Given the description of an element on the screen output the (x, y) to click on. 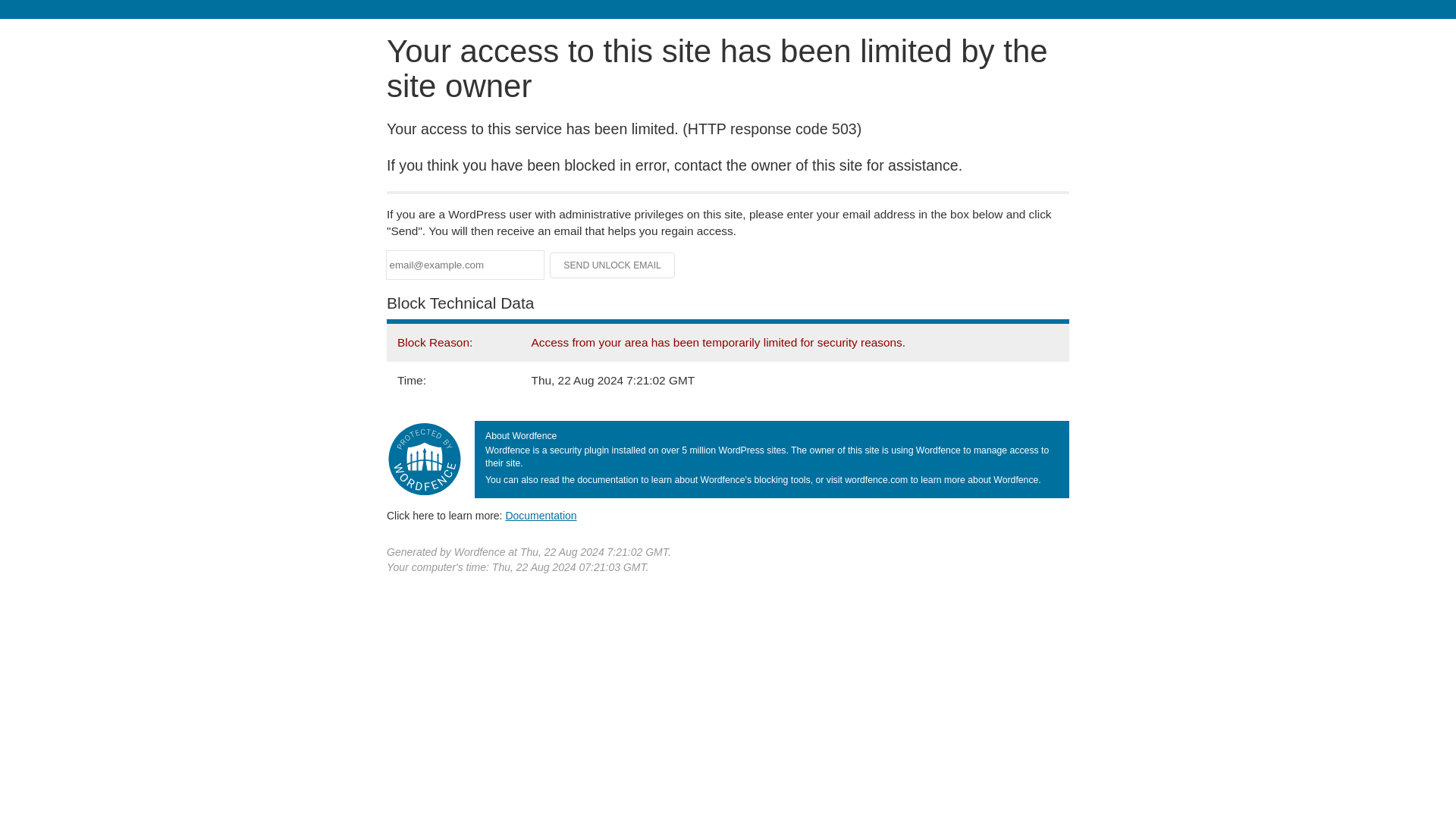
Documentation (540, 515)
Send Unlock Email (612, 265)
Send Unlock Email (612, 265)
